Given the description of an element on the screen output the (x, y) to click on. 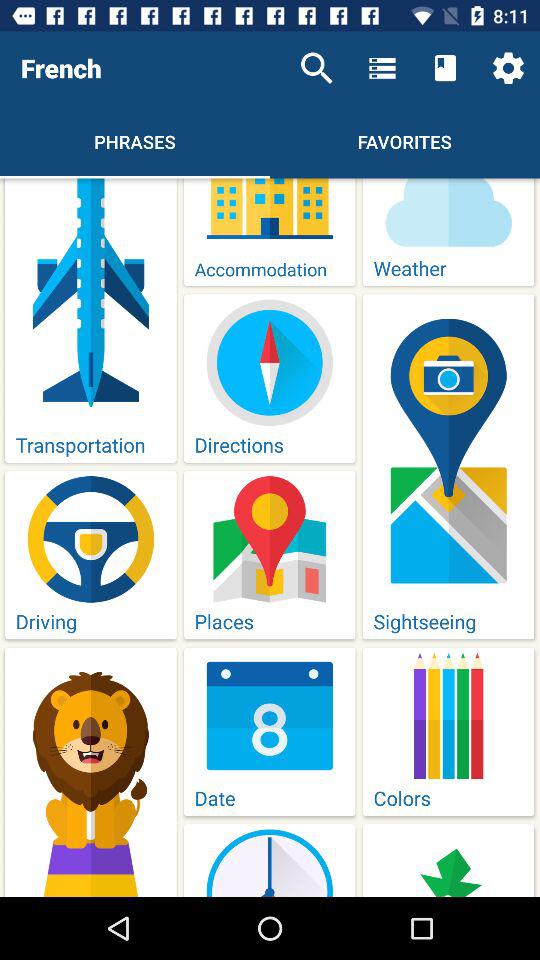
press the item to the right of the french (316, 67)
